Given the description of an element on the screen output the (x, y) to click on. 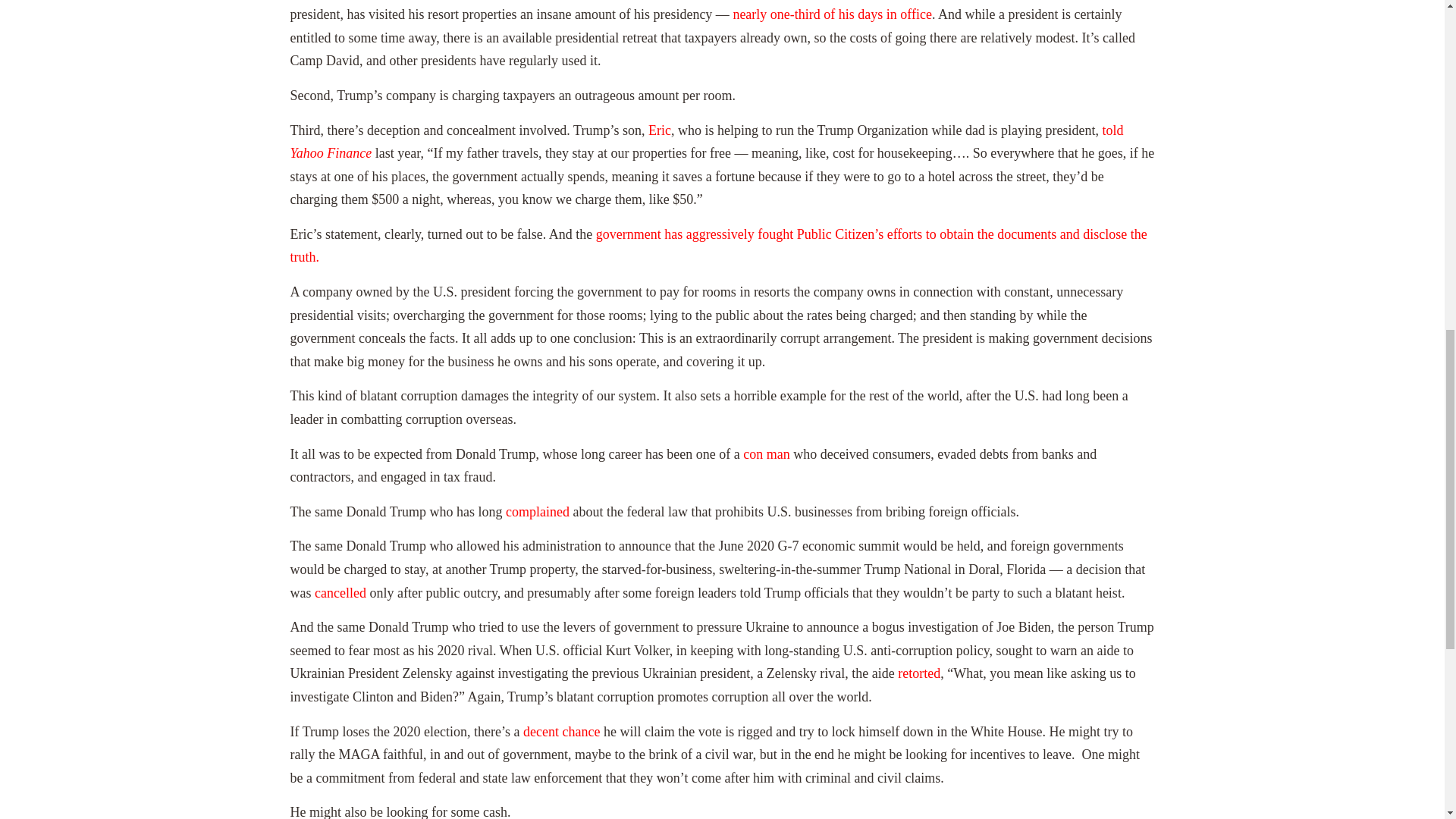
complained (537, 511)
told Yahoo Finance (705, 141)
Eric (659, 130)
decent chance (560, 731)
nearly one-third of his days in office (831, 14)
con man (765, 453)
retorted (919, 672)
cancelled (340, 592)
